Given the description of an element on the screen output the (x, y) to click on. 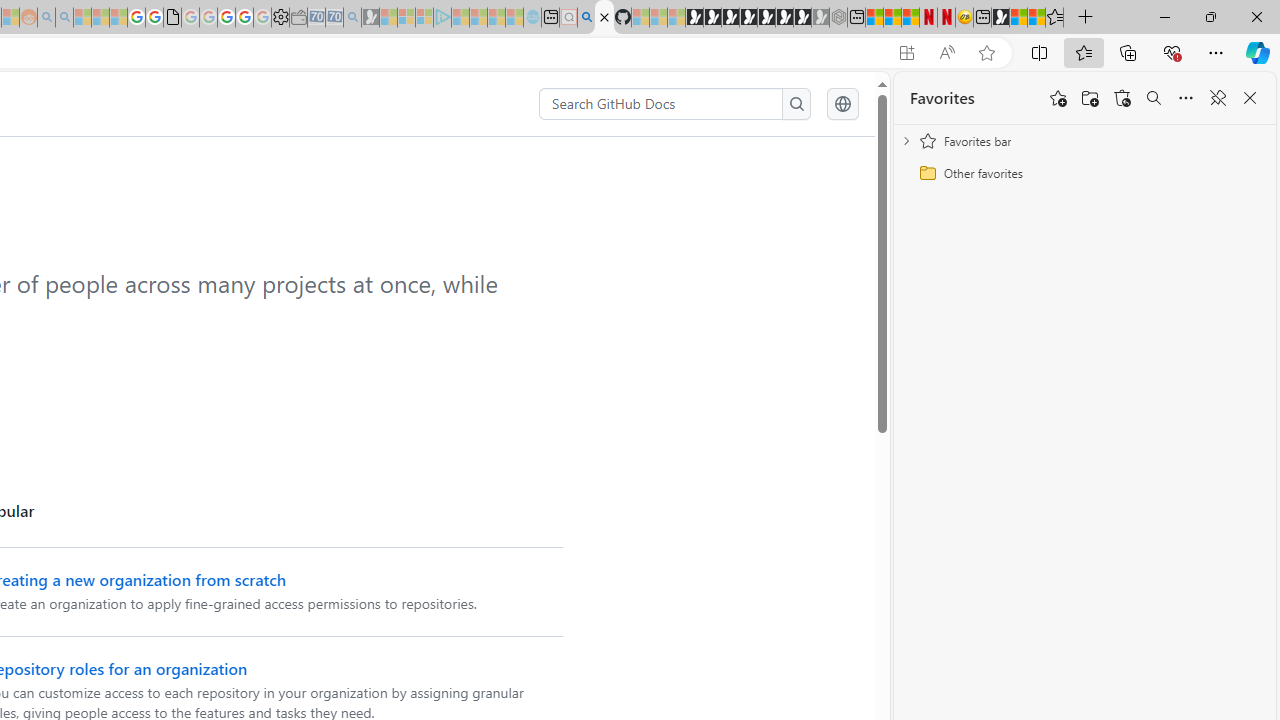
Unpin favorites (1217, 98)
